Given the description of an element on the screen output the (x, y) to click on. 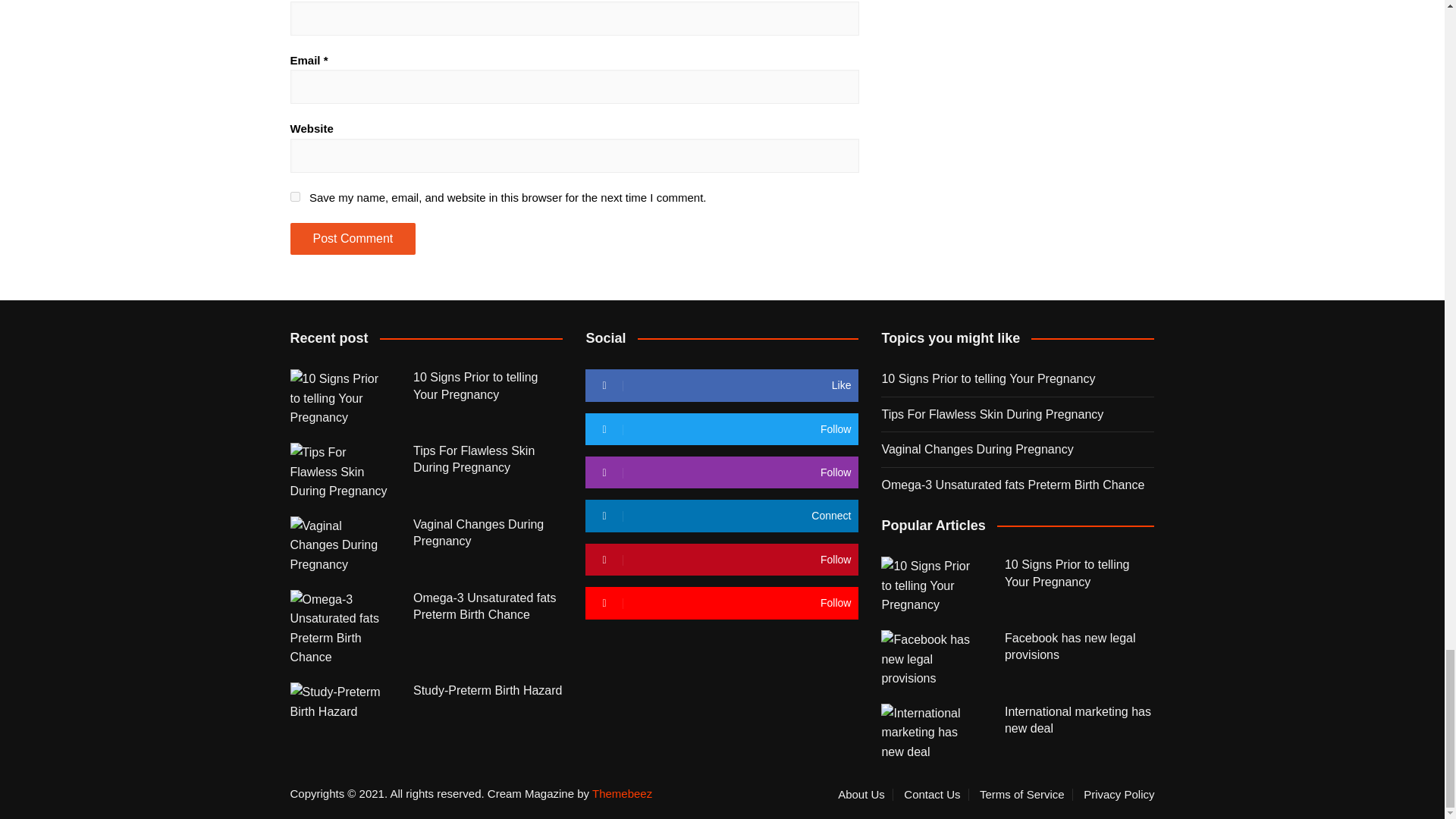
10 Signs Prior to telling Your Pregnancy (930, 585)
Study-Preterm Birth Hazard (339, 701)
10 Signs Prior to telling Your Pregnancy (339, 398)
Tips For Flawless Skin During Pregnancy (339, 472)
Post Comment (351, 238)
yes (294, 196)
Vaginal Changes During Pregnancy (339, 545)
Omega-3 Unsaturated fats Preterm Birth Chance (339, 628)
